Given the description of an element on the screen output the (x, y) to click on. 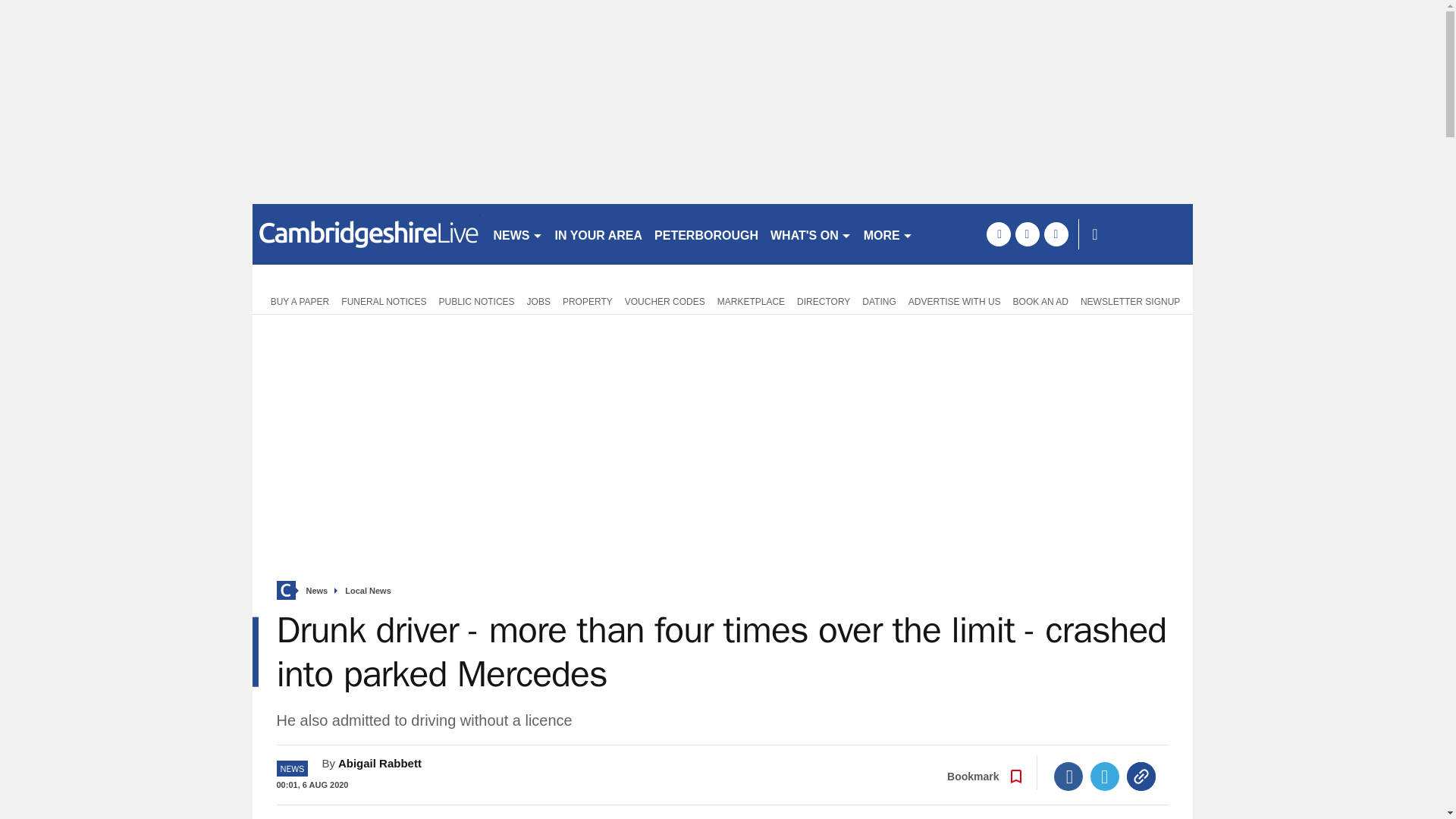
Facebook (1068, 776)
twitter (1026, 233)
facebook (997, 233)
MORE (887, 233)
PETERBOROUGH (705, 233)
Twitter (1104, 776)
WHAT'S ON (810, 233)
IN YOUR AREA (598, 233)
NEWS (517, 233)
instagram (1055, 233)
cambridgenews (365, 233)
